Given the description of an element on the screen output the (x, y) to click on. 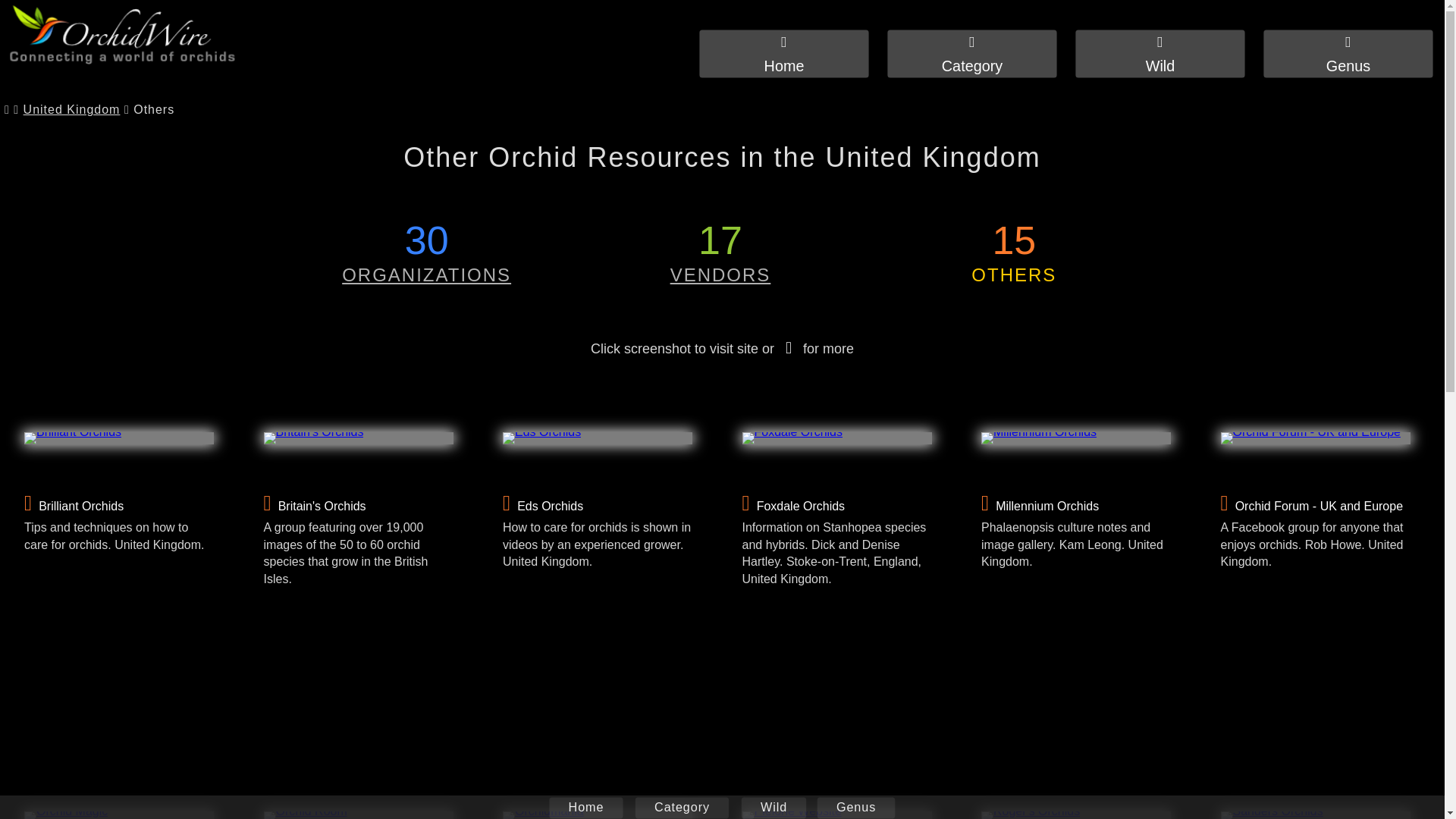
Wild (1169, 56)
Go to Orchidmania (597, 815)
ORGANIZATIONS (426, 275)
Go to Orchid Room (357, 815)
Go to Foxdale Orchids (836, 438)
Go to Brilliant Orchids (119, 438)
Go to Orchid Forum - UK and Europe (1315, 438)
Go to Britain's Orchids (357, 438)
Category (980, 56)
Go to Pleione Website (836, 815)
